Given the description of an element on the screen output the (x, y) to click on. 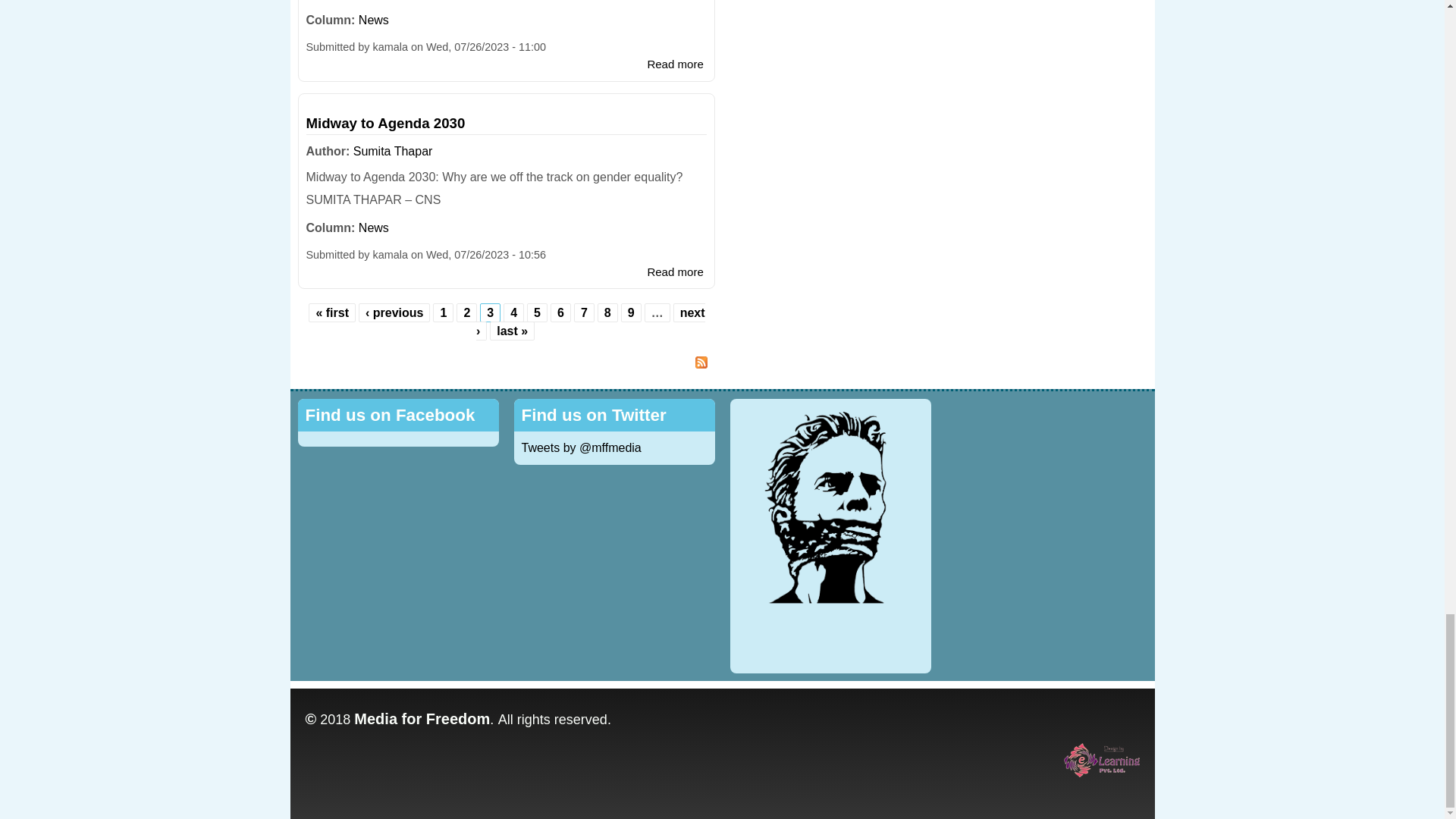
Go to page 4 (513, 312)
Go to page 2 (466, 312)
When farmers choose to grow food (674, 63)
Go to page 6 (560, 312)
Go to page 1 (442, 312)
Midway to Agenda 2030 (674, 271)
Go to first page (332, 312)
News (373, 19)
Go to previous page (394, 312)
Go to page 5 (537, 312)
